Given the description of an element on the screen output the (x, y) to click on. 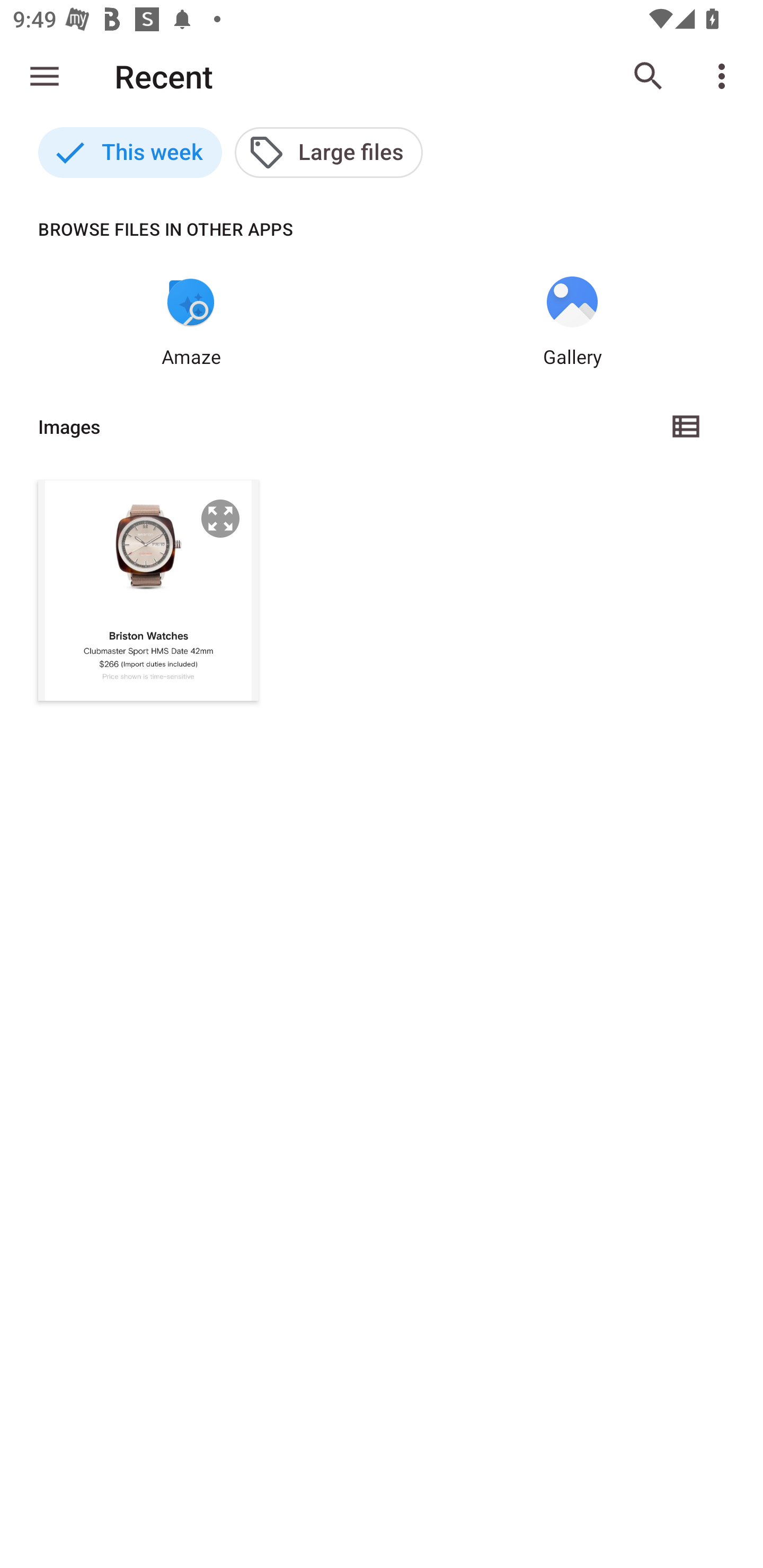
Show roots (44, 75)
Search (648, 75)
More options (724, 75)
This week (130, 152)
Large files (328, 152)
Amaze (190, 322)
Gallery (572, 322)
List view (686, 426)
Preview the file farfetch-poster-1709626146897.jpg (220, 517)
